Given the description of an element on the screen output the (x, y) to click on. 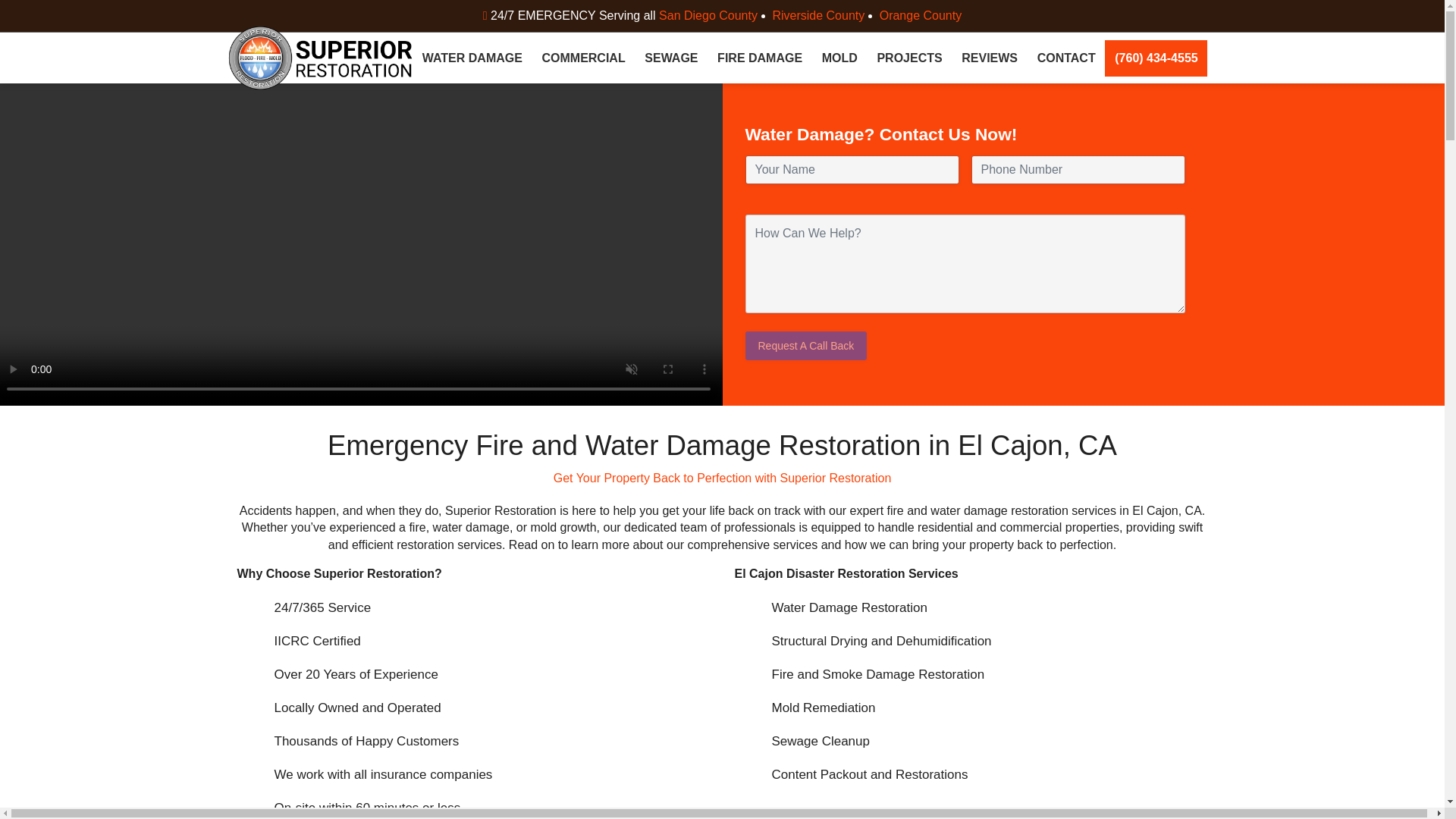
COMMERCIAL (583, 58)
WATER DAMAGE (472, 58)
Orange County (920, 15)
Request A Call Back (805, 345)
REVIEWS (989, 58)
Request A Call Back (805, 345)
MOLD (839, 58)
PROJECTS (909, 58)
Riverside County (823, 15)
FIRE DAMAGE (759, 58)
CONTACT (1066, 58)
SEWAGE (670, 58)
San Diego County (713, 15)
